Given the description of an element on the screen output the (x, y) to click on. 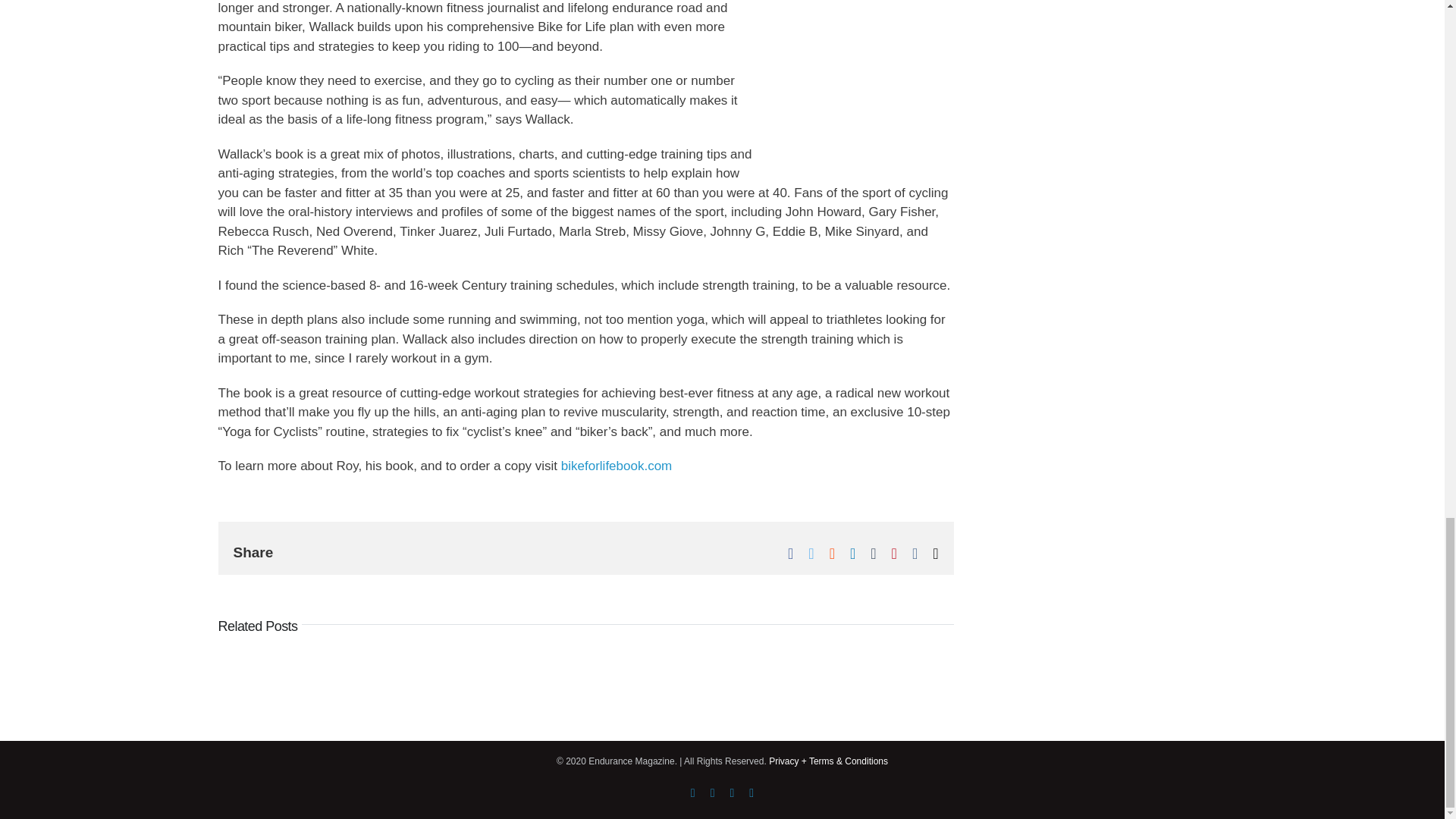
Vk (914, 553)
Reddit (831, 553)
Facebook (790, 553)
Facebook (692, 793)
Email (935, 553)
Tumblr (873, 553)
Pinterest (893, 553)
Twitter (810, 553)
LinkedIn (853, 553)
